Given the description of an element on the screen output the (x, y) to click on. 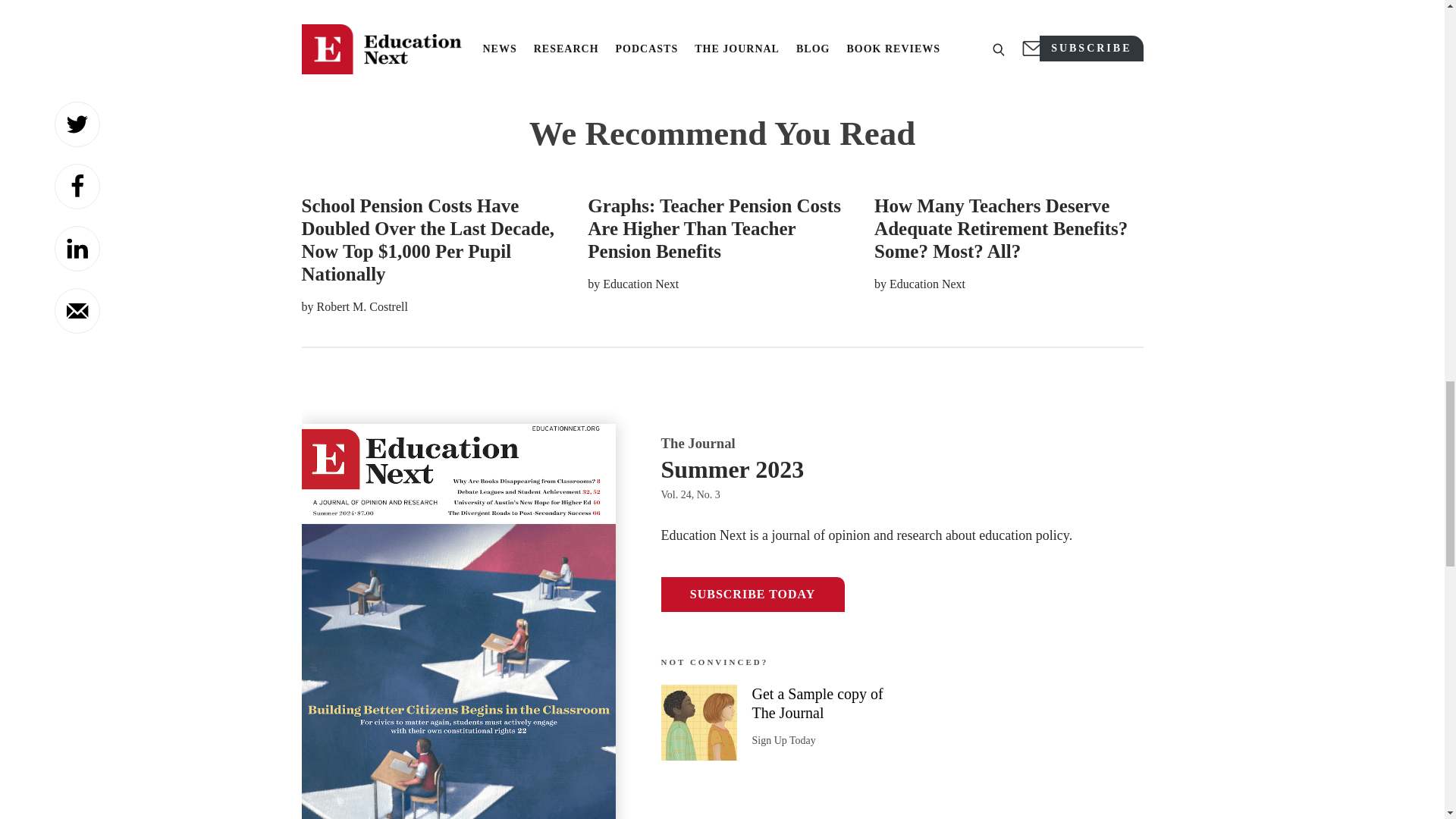
Summer 2023 (901, 469)
SUBSCRIBE TODAY (752, 594)
